Given the description of an element on the screen output the (x, y) to click on. 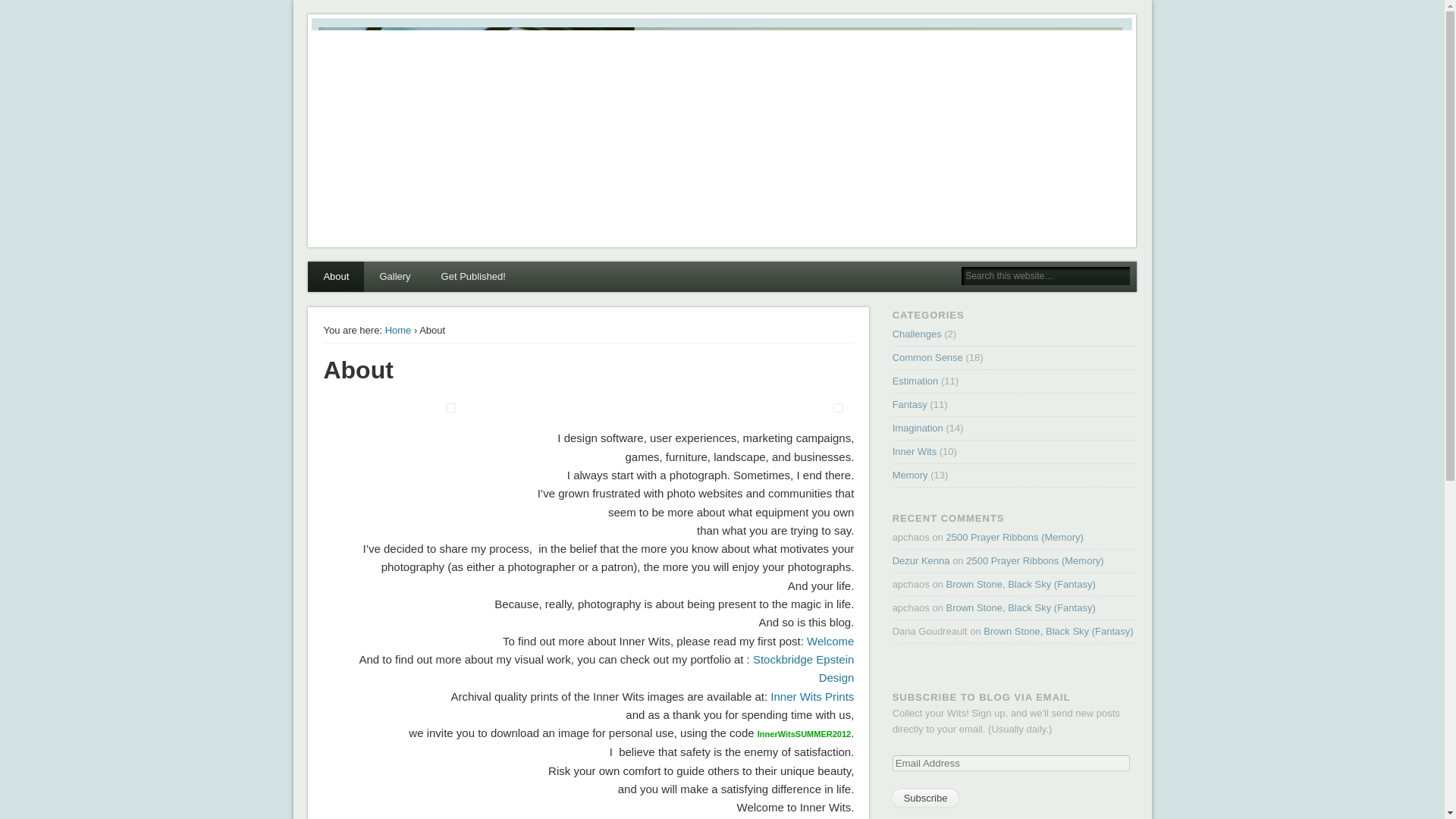
Stockbridge Epstein Design (802, 667)
Dezur Kenna (921, 560)
Estimation (915, 380)
Subscribe (925, 797)
Envisioning that which has never been (909, 404)
Inner Wits (914, 451)
Memory (910, 474)
Gallery (394, 276)
Challenges (917, 333)
